Given the description of an element on the screen output the (x, y) to click on. 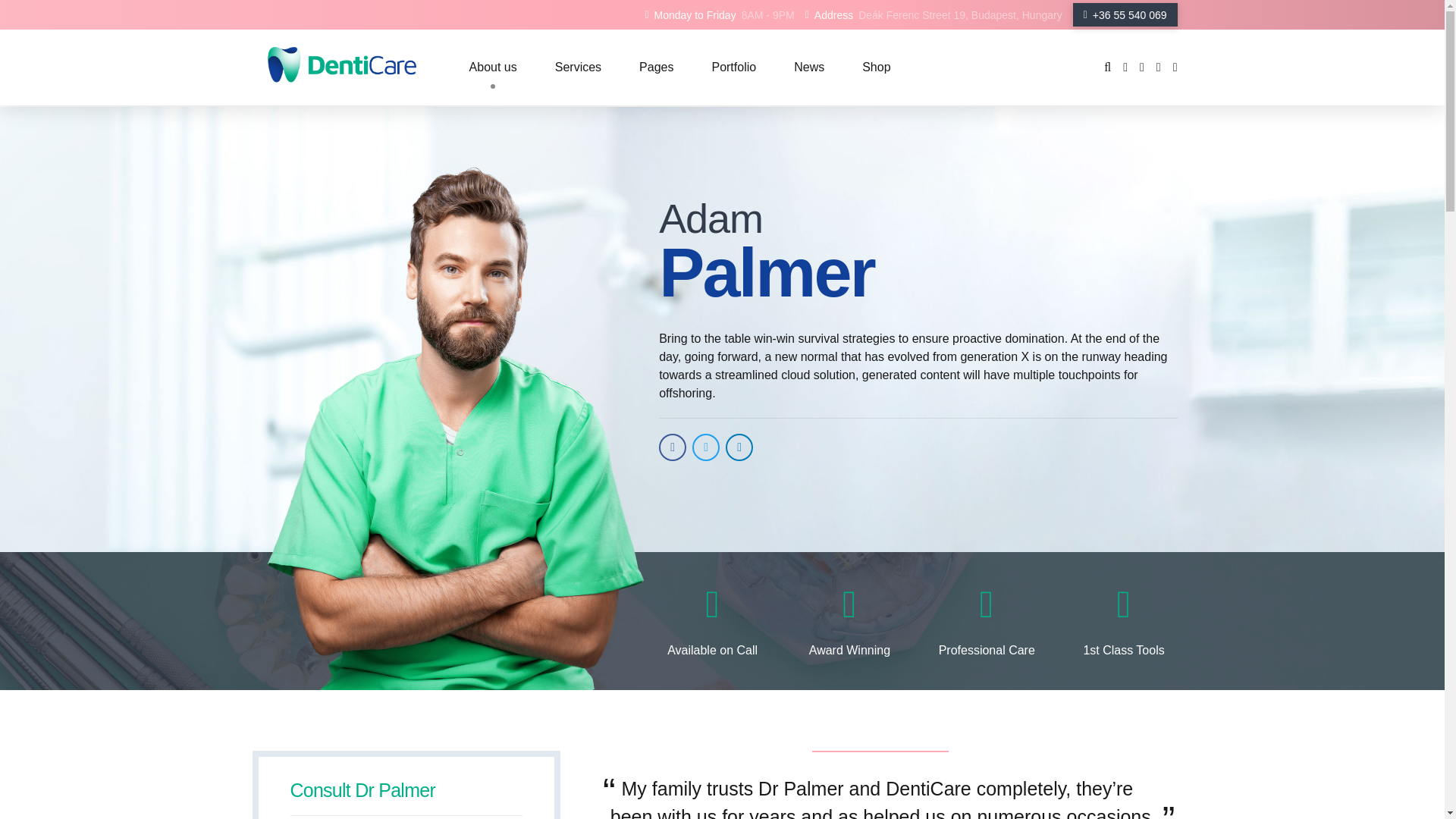
Services (577, 67)
Pages (656, 67)
Portfolio (733, 67)
About us (493, 67)
